Given the description of an element on the screen output the (x, y) to click on. 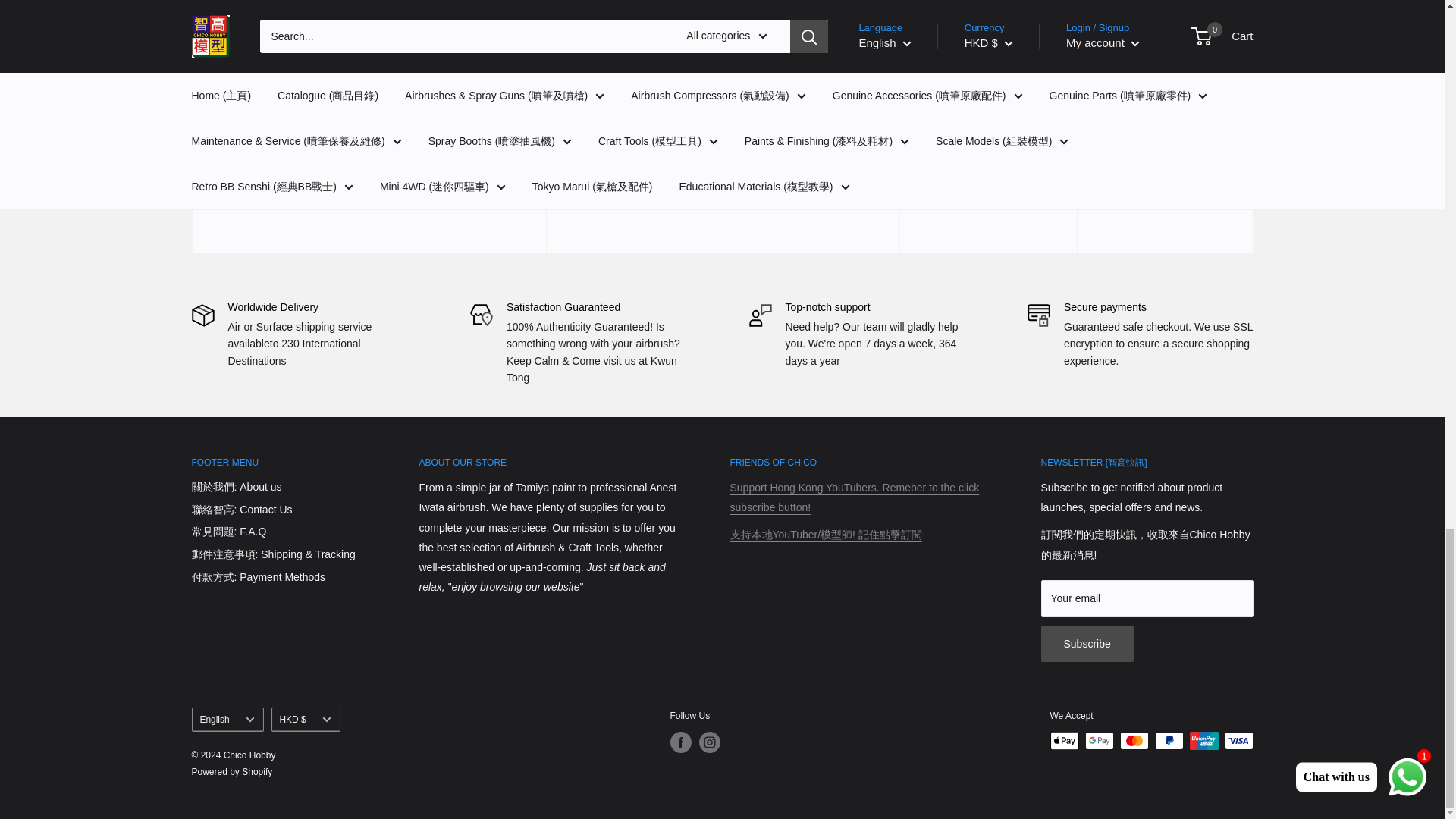
Friends of Chico (825, 534)
